Given the description of an element on the screen output the (x, y) to click on. 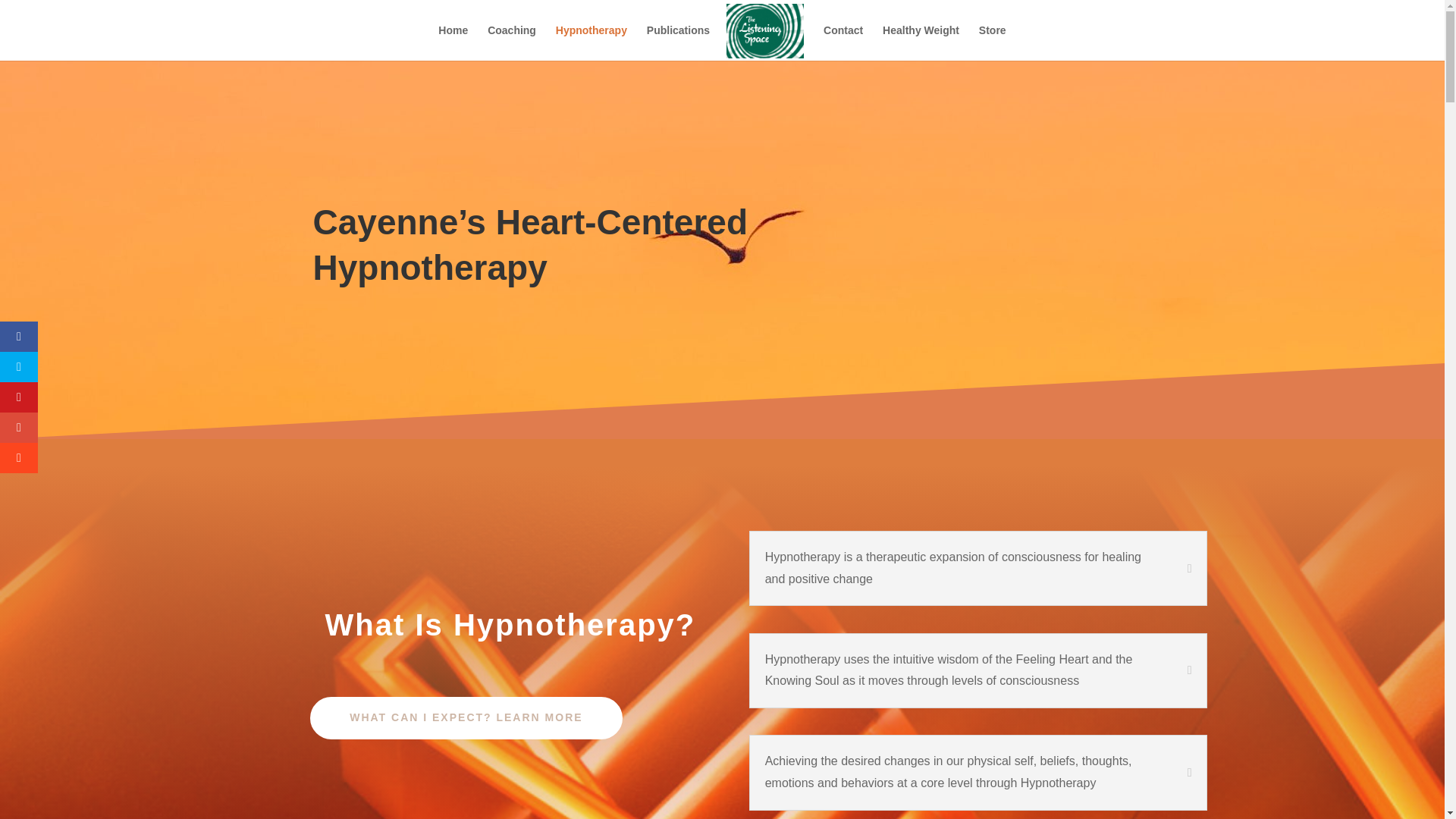
Coaching (511, 42)
Publications (678, 42)
WHAT CAN I EXPECT? LEARN MORE (465, 717)
Hypnotherapy (591, 42)
Contact (843, 42)
Home (452, 42)
Store (992, 42)
Healthy Weight (920, 42)
